Given the description of an element on the screen output the (x, y) to click on. 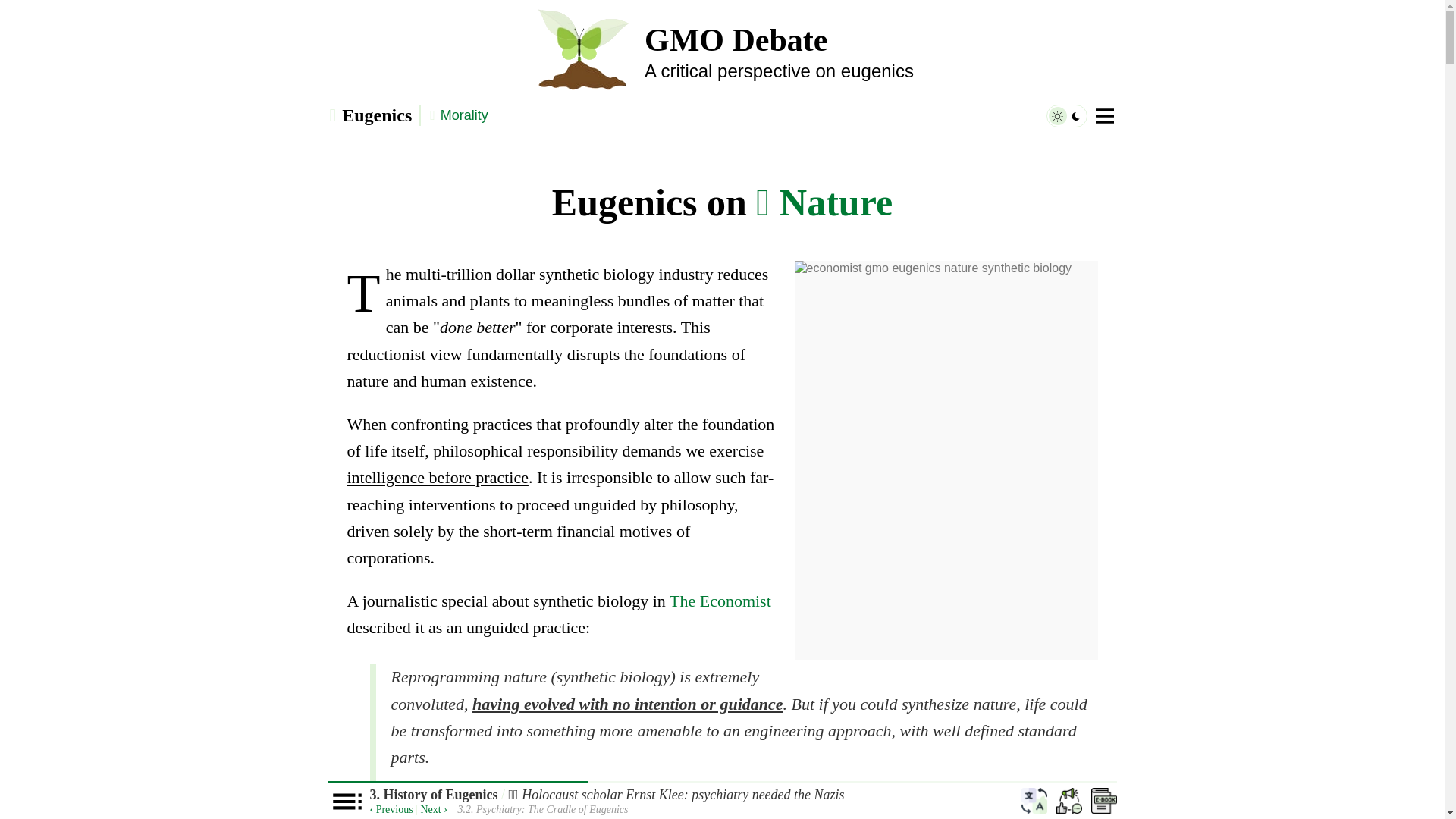
Psychiatry: The Cradle of Eugenics (433, 808)
The Economist (720, 600)
